Given the description of an element on the screen output the (x, y) to click on. 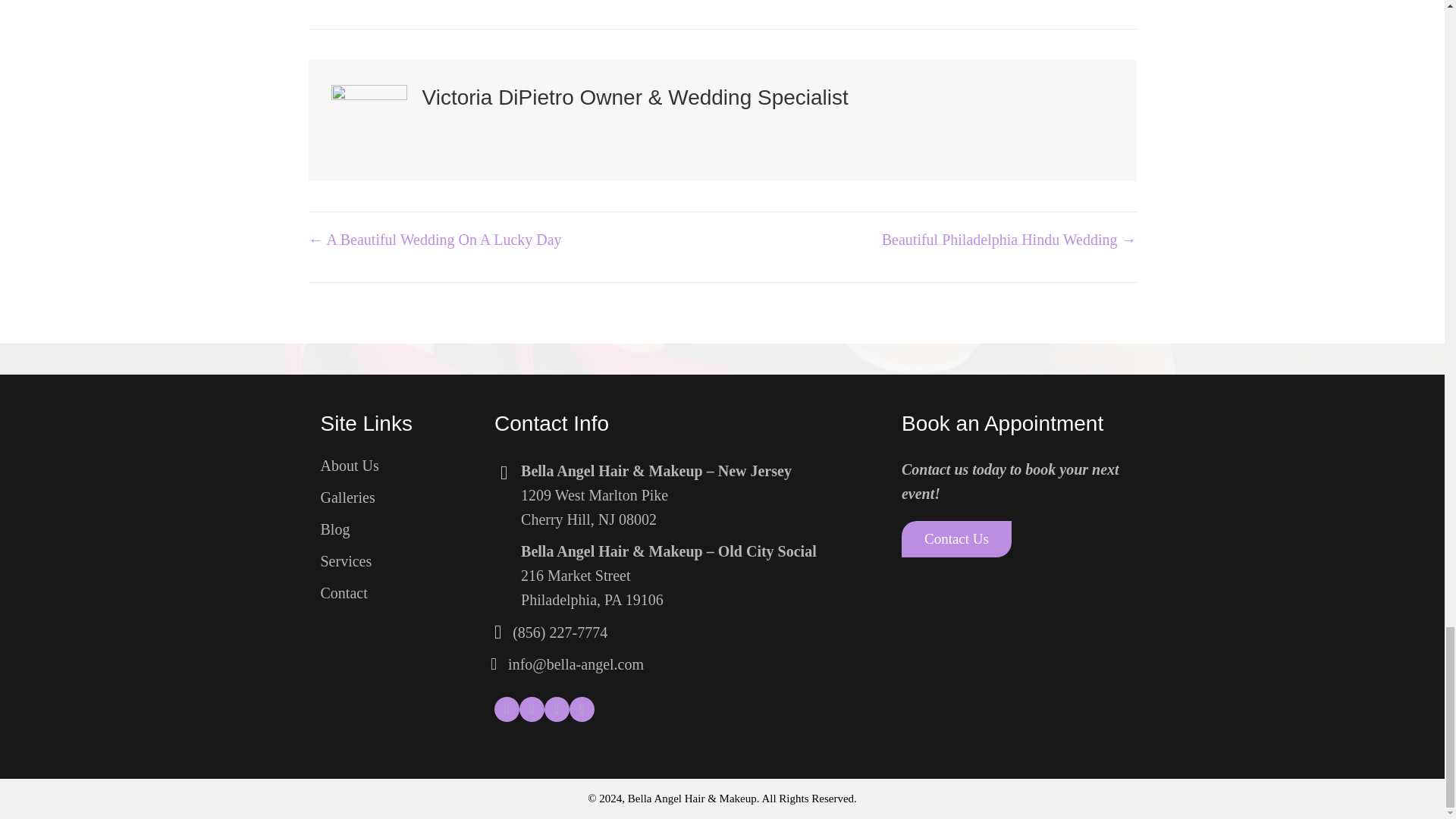
Contact Us (956, 538)
Services (345, 560)
Contact (592, 587)
About Us (594, 507)
Blog (343, 592)
Galleries (349, 465)
